Given the description of an element on the screen output the (x, y) to click on. 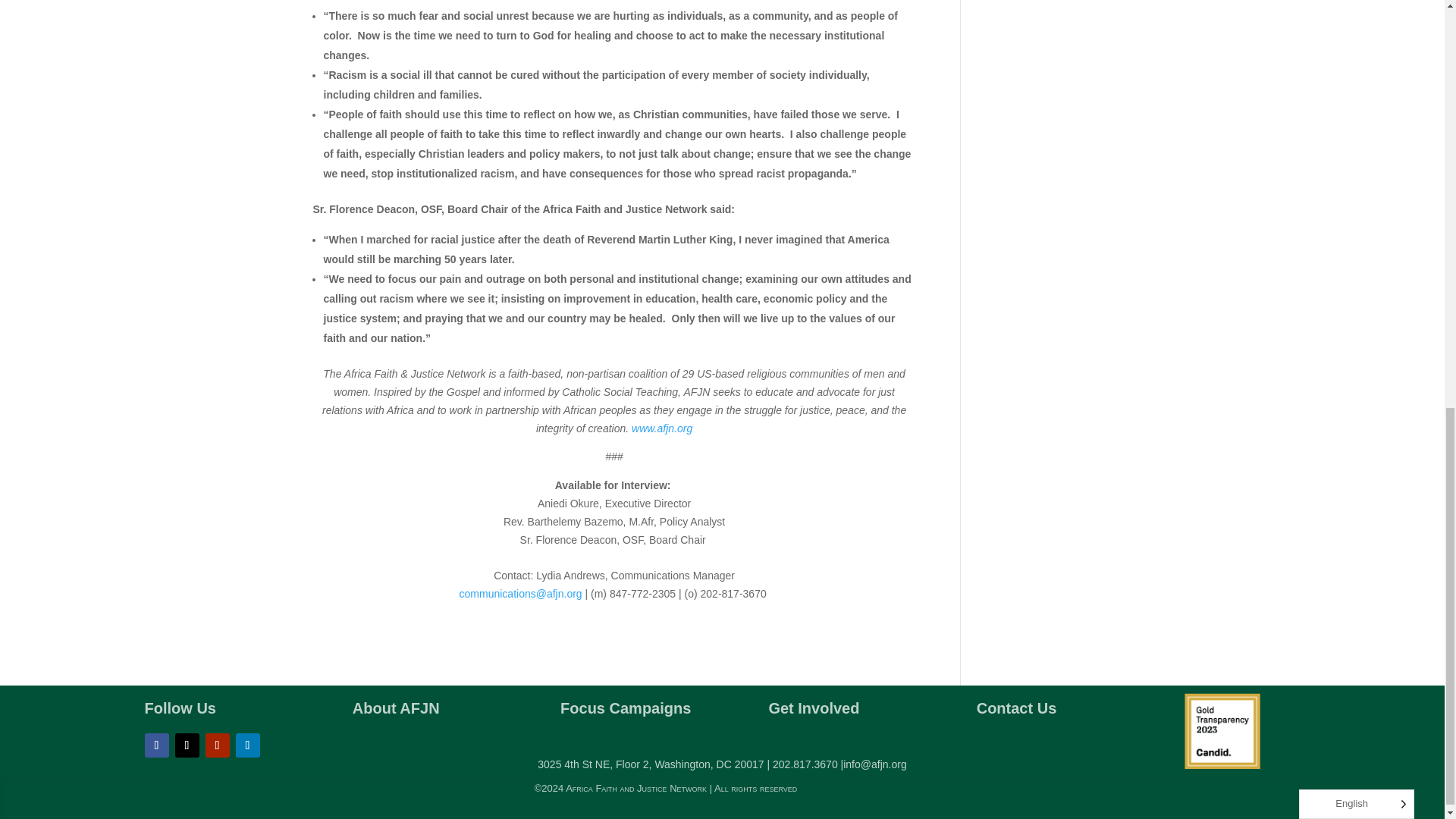
Follow on Youtube (216, 744)
Follow on LinkedIn (246, 744)
Follow on Facebook (156, 744)
candid-seal-gold-2023 (1222, 730)
Follow on X (186, 744)
